Given the description of an element on the screen output the (x, y) to click on. 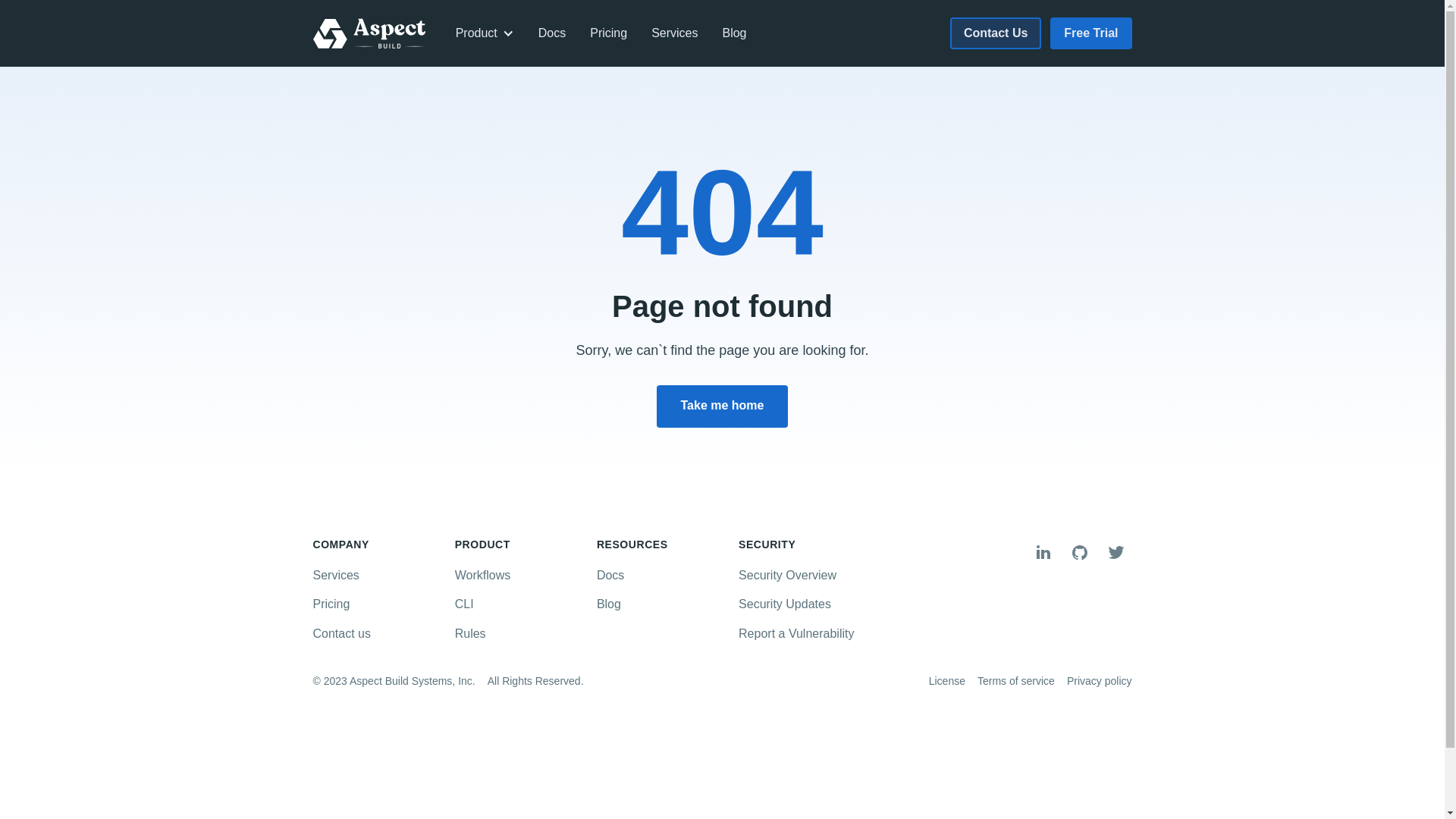
Rules Element type: text (521, 633)
Services Element type: text (378, 575)
Contact Us Element type: text (995, 33)
Pricing Element type: text (608, 32)
Take me home Element type: text (722, 406)
Security Updates Element type: text (804, 603)
Privacy policy Element type: text (1099, 681)
Blog Element type: text (662, 603)
Contact us Element type: text (378, 633)
Docs Element type: text (551, 32)
Services Element type: text (674, 32)
Report a Vulnerability Element type: text (804, 633)
Free Trial Element type: text (1090, 33)
Docs Element type: text (662, 575)
Pricing Element type: text (378, 603)
Terms of service Element type: text (1015, 681)
Security Overview Element type: text (804, 575)
License Element type: text (946, 681)
CLI Element type: text (521, 603)
Workflows Element type: text (521, 575)
Blog Element type: text (733, 32)
